Given the description of an element on the screen output the (x, y) to click on. 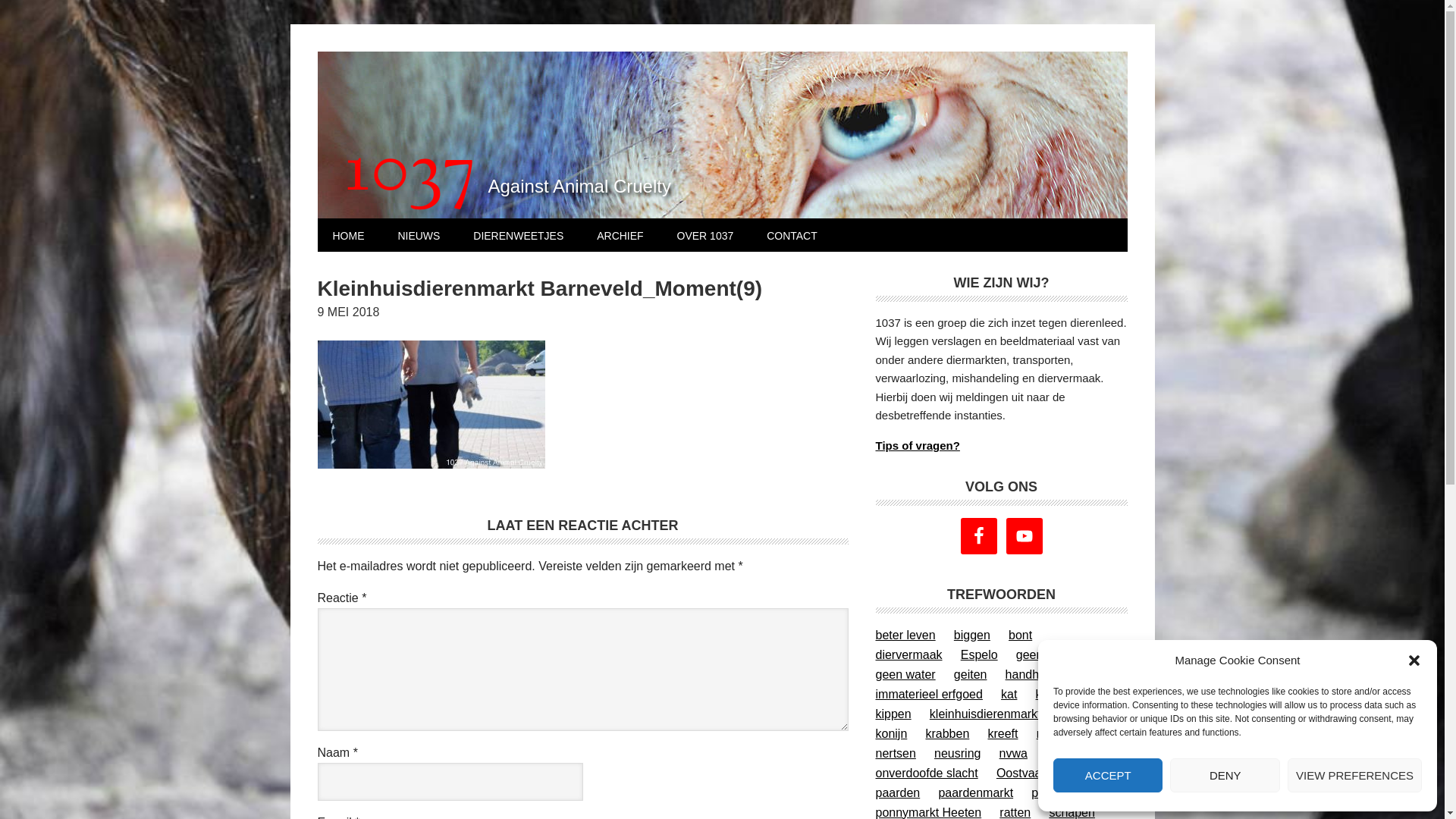
biggen Element type: text (971, 634)
offerfeest Element type: text (1070, 752)
keuring Element type: text (1055, 693)
HOME Element type: text (347, 234)
geen water Element type: text (905, 674)
handhaving Element type: text (1036, 674)
DIERENWEETJES Element type: text (518, 234)
1037 Element type: text (409, 173)
onverdoofde slacht Element type: text (926, 772)
Tips of vragen? Element type: text (917, 445)
immaterieel erfgoed Element type: text (928, 693)
paarden Element type: text (897, 792)
beter leven Element type: text (905, 634)
nertsen Element type: text (895, 752)
koeien Element type: text (1077, 713)
muizen Element type: text (1056, 733)
DENY Element type: text (1224, 775)
krabben Element type: text (947, 733)
kreeft Element type: text (1002, 733)
geiten Element type: text (970, 674)
NIEUWS Element type: text (418, 234)
OVER 1037 Element type: text (705, 234)
kippen Element type: text (892, 713)
diervermaak Element type: text (908, 654)
kleinhuisdierenmarkt Element type: text (985, 713)
Oostvaardersplassen Element type: text (1053, 772)
bont Element type: text (1020, 634)
CONTACT Element type: text (791, 234)
VIEW PREFERENCES Element type: text (1354, 775)
Espelo Element type: text (978, 654)
ACCEPT Element type: text (1107, 775)
nvwa Element type: text (1013, 752)
geen keuring Element type: text (1051, 654)
paasvuur Element type: text (1056, 792)
neusring Element type: text (957, 752)
ARCHIEF Element type: text (619, 234)
kat Element type: text (1008, 693)
paardenmarkt Element type: text (975, 792)
konijn Element type: text (890, 733)
